Given the description of an element on the screen output the (x, y) to click on. 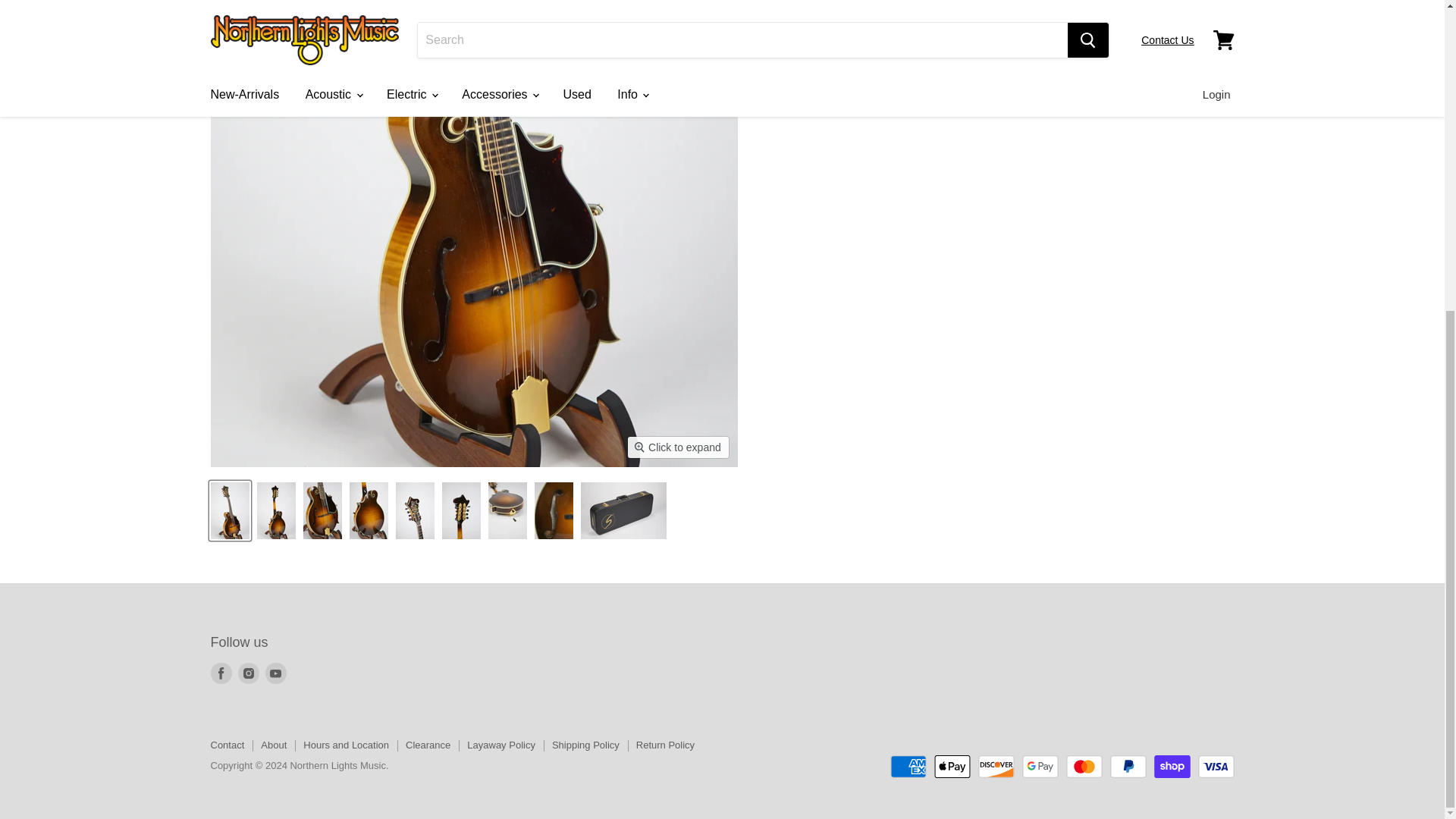
Facebook (221, 672)
Discover (996, 766)
Apple Pay (952, 766)
Google Pay (1040, 766)
Youtube (275, 672)
Instagram (248, 672)
Mastercard (1083, 766)
American Express (907, 766)
